Given the description of an element on the screen output the (x, y) to click on. 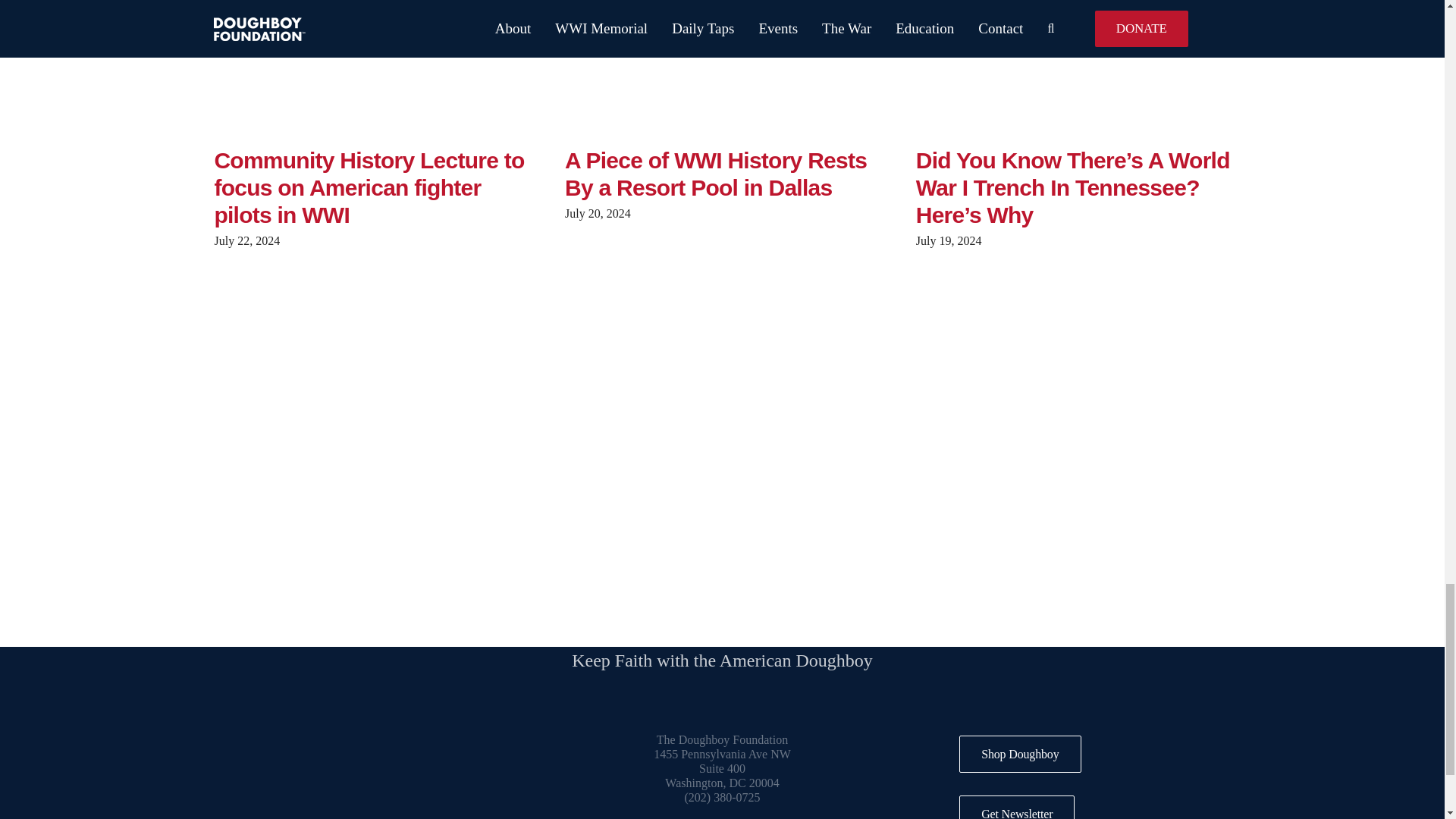
Doughboy-stacked-white-mark (383, 769)
A Piece of WWI History Rests By a Resort Pool in Dallas (715, 173)
